Given the description of an element on the screen output the (x, y) to click on. 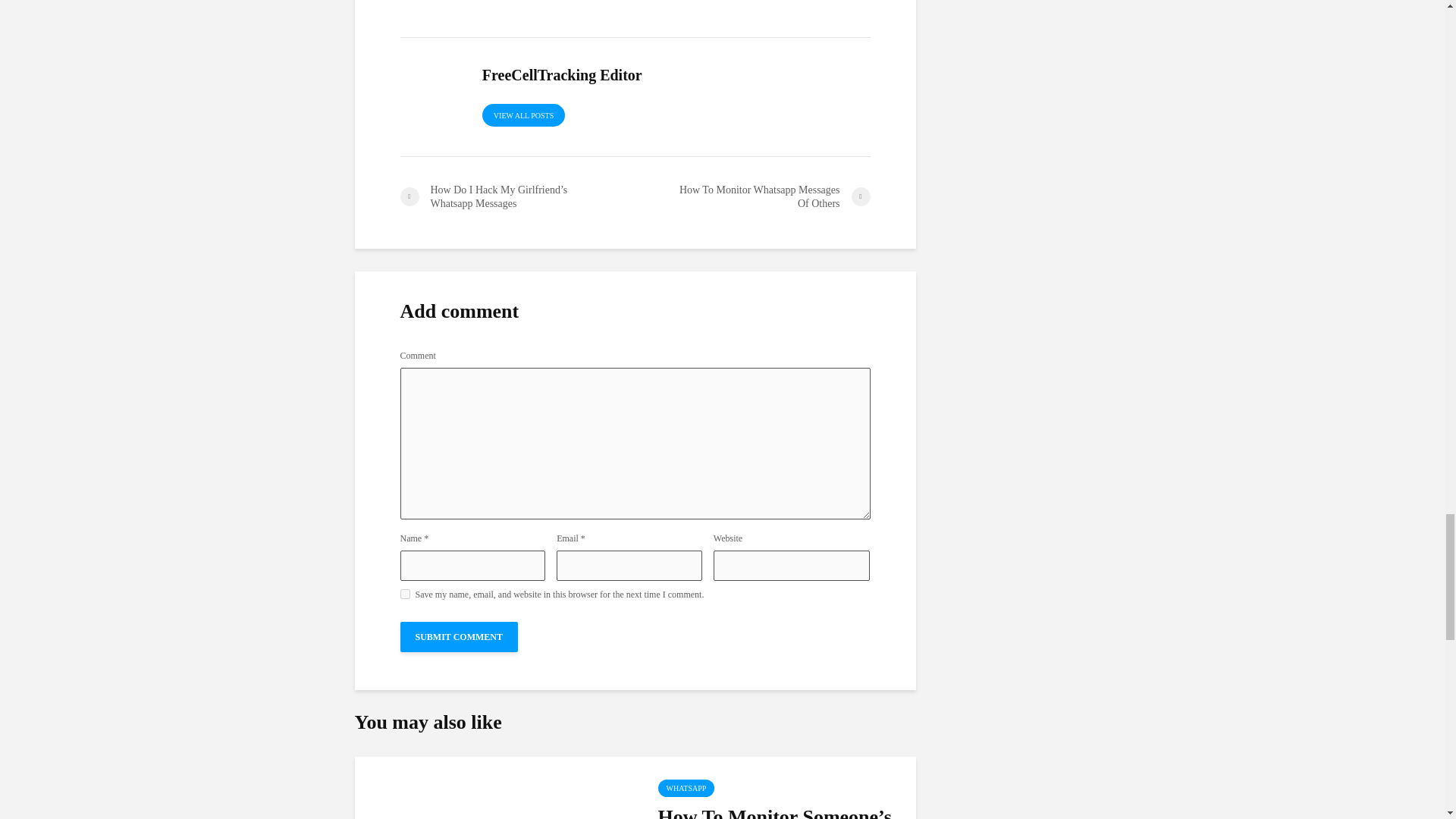
Submit Comment (459, 636)
WHATSAPP (686, 787)
Submit Comment (459, 636)
VIEW ALL POSTS (522, 115)
How To Monitor Whatsapp Messages Of Others (752, 196)
yes (405, 593)
